Given the description of an element on the screen output the (x, y) to click on. 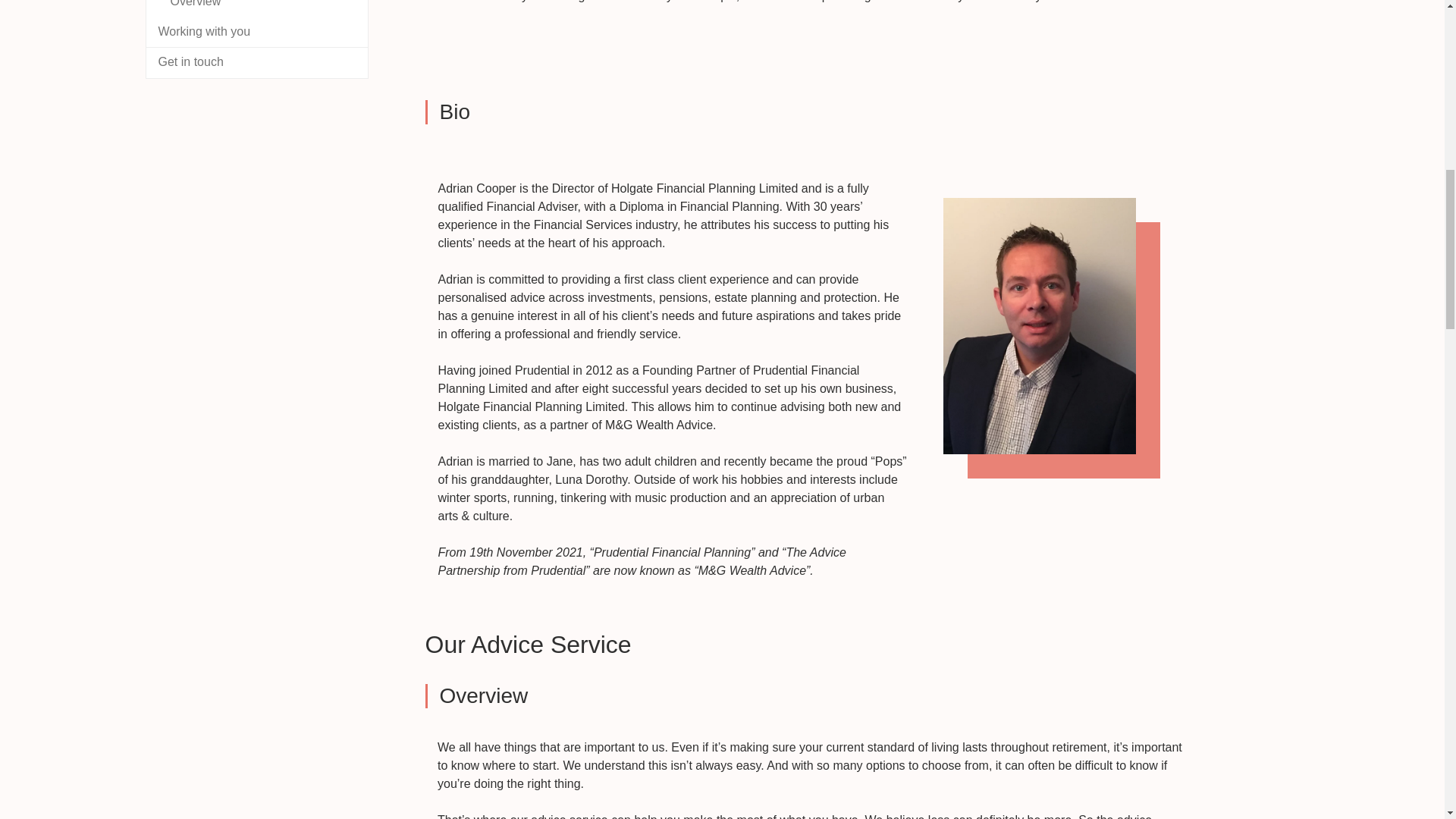
Our Advice Service (810, 778)
About Us (810, 22)
Overview (255, 8)
Working with you (255, 32)
Get in touch (255, 62)
